Given the description of an element on the screen output the (x, y) to click on. 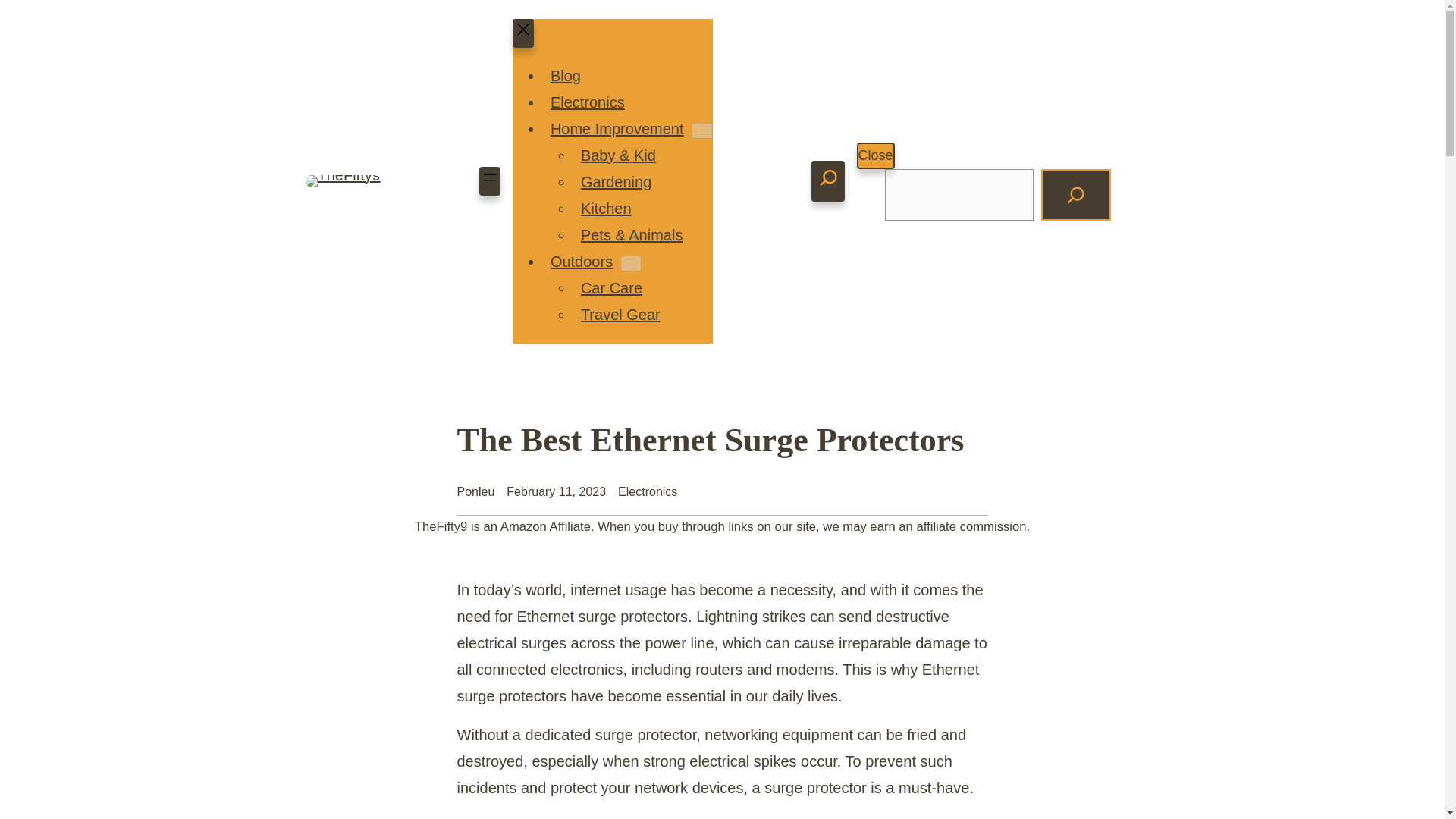
Home Improvement (617, 128)
Kitchen (606, 208)
Outdoors (581, 261)
Blog (565, 75)
Electronics (587, 102)
Close (876, 155)
Gardening (616, 181)
Electronics (647, 491)
Car Care (611, 288)
Travel Gear (620, 314)
